Given the description of an element on the screen output the (x, y) to click on. 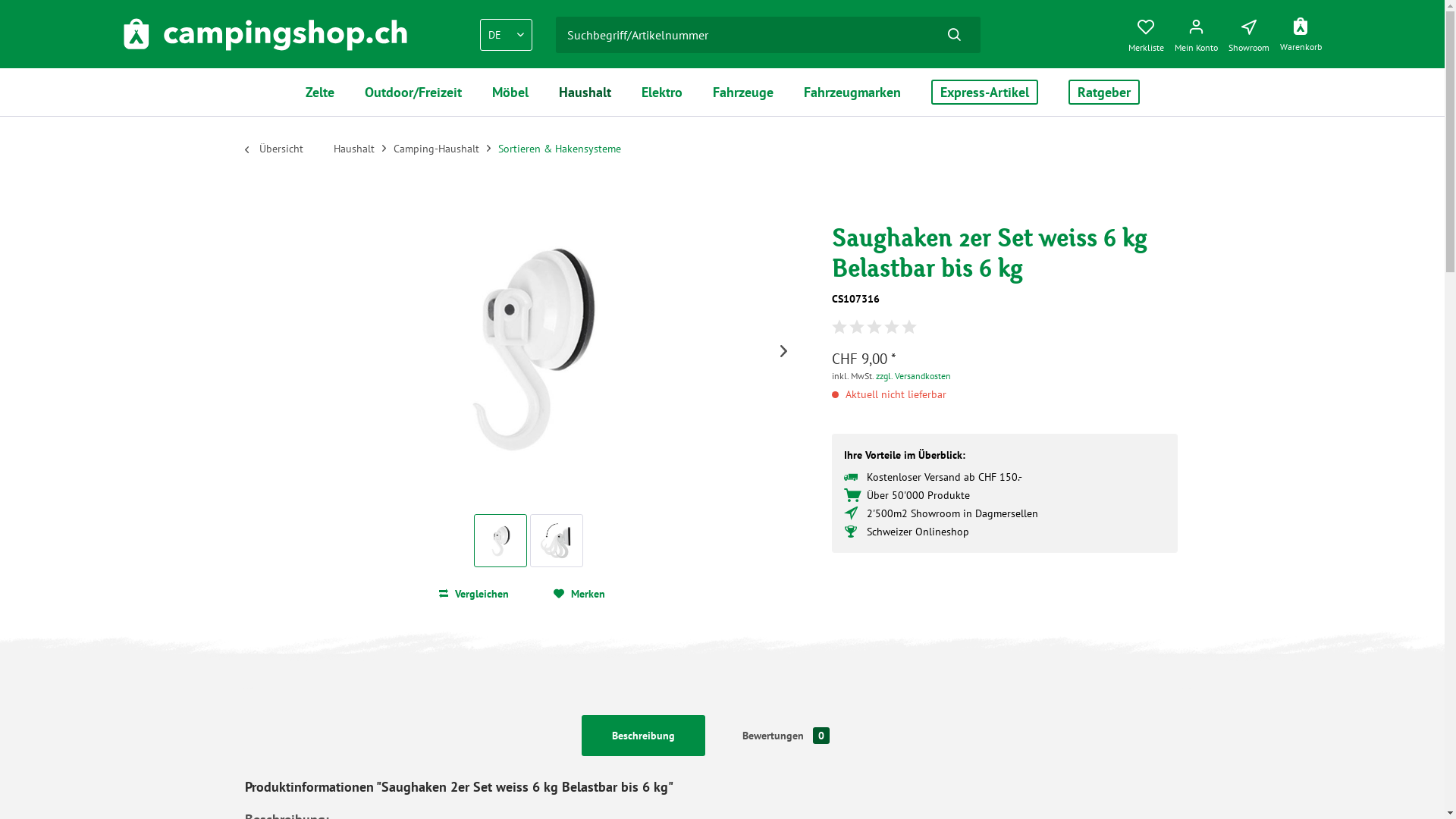
Ratgeber Element type: text (1103, 92)
Vorschau: Saughaken 2er Set weiss 6 kg Belastbar bis 6 kg Element type: hover (500, 540)
Beschreibung Element type: text (642, 735)
Vorschau: Saughaken 2er Set weiss 6 kg Belastbar bis 6 kg Element type: hover (556, 540)
Camping-Haushalt Element type: text (439, 148)
Merken Element type: text (579, 593)
Express-Artikel Element type: text (984, 92)
Vorschau: Saughaken 2er Set weiss 6 kg Belastbar bis 6 kg Element type: hover (500, 540)
Vorschau: Saughaken 2er Set weiss 6 kg Belastbar bis 6 kg Element type: hover (556, 540)
Merkliste Element type: text (1149, 31)
Warenkorb Element type: text (1304, 31)
Zelte Element type: text (318, 92)
Sortieren & Hakensysteme Element type: text (562, 148)
Vergleichen Element type: text (473, 593)
zzgl. Versandkosten Element type: text (912, 375)
Bewertung abgeben Element type: hover (873, 327)
Fahrzeuge Element type: text (742, 92)
Mein Konto Element type: text (1198, 31)
Haushalt Element type: text (583, 92)
Bewertungen 0 Element type: text (785, 735)
Elektro Element type: text (661, 92)
Fahrzeugmarken Element type: text (852, 92)
Showroom Element type: text (1252, 31)
Outdoor/Freizeit Element type: text (412, 92)
Haushalt Element type: text (357, 148)
